Given the description of an element on the screen output the (x, y) to click on. 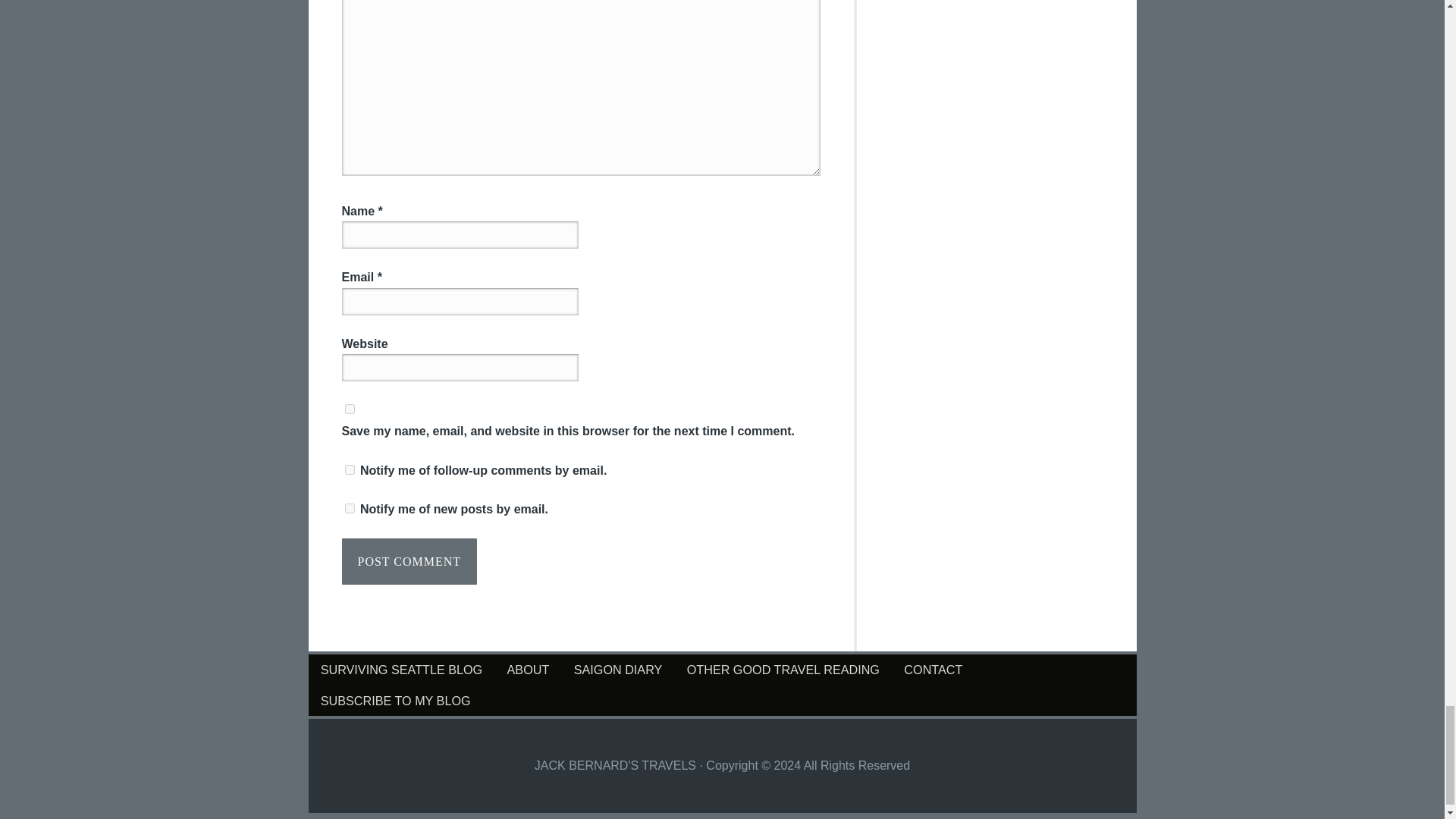
subscribe (348, 508)
Post Comment (408, 561)
Post Comment (408, 561)
yes (348, 409)
subscribe (348, 470)
